Given the description of an element on the screen output the (x, y) to click on. 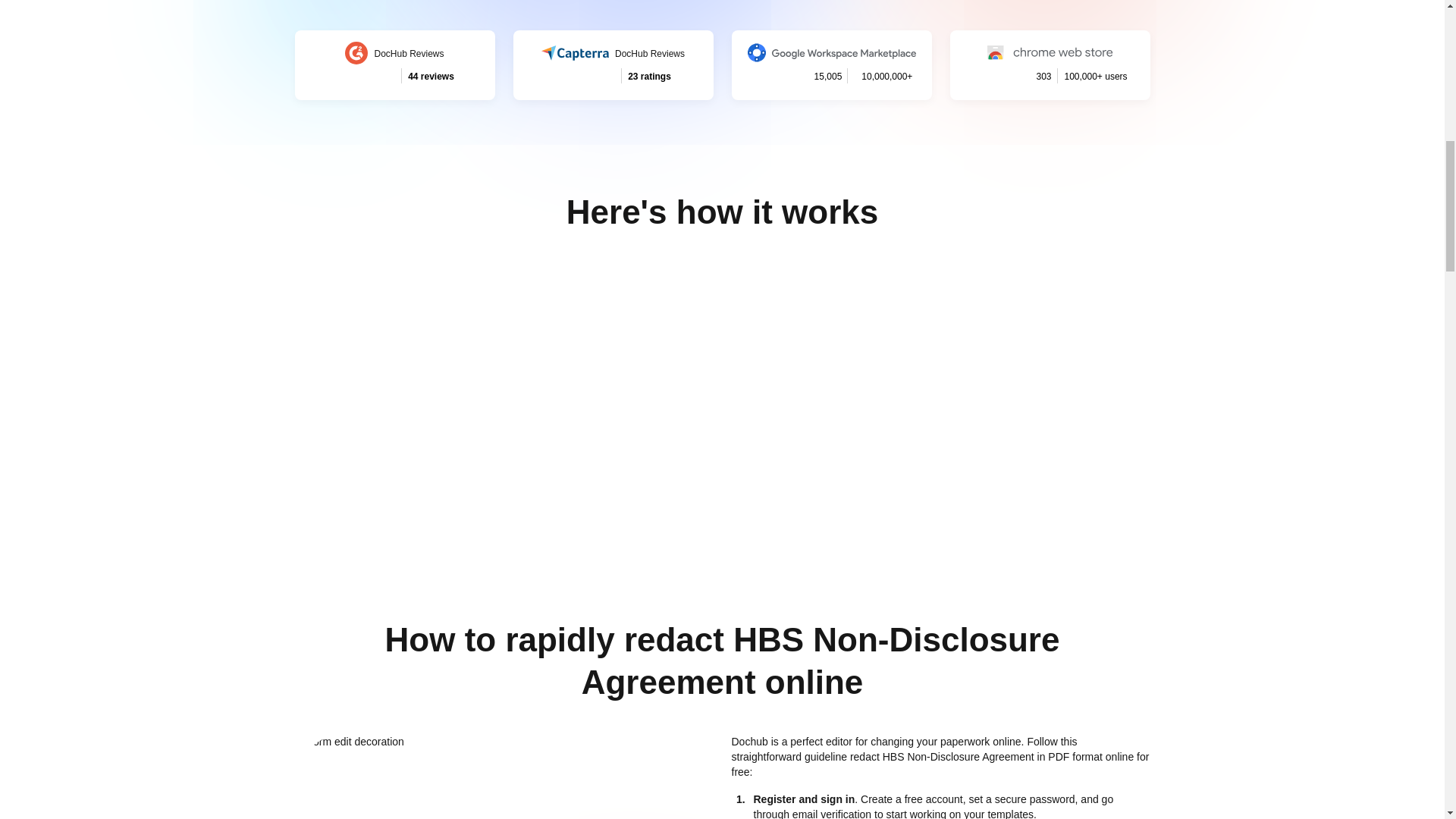
Start now (394, 64)
